Given the description of an element on the screen output the (x, y) to click on. 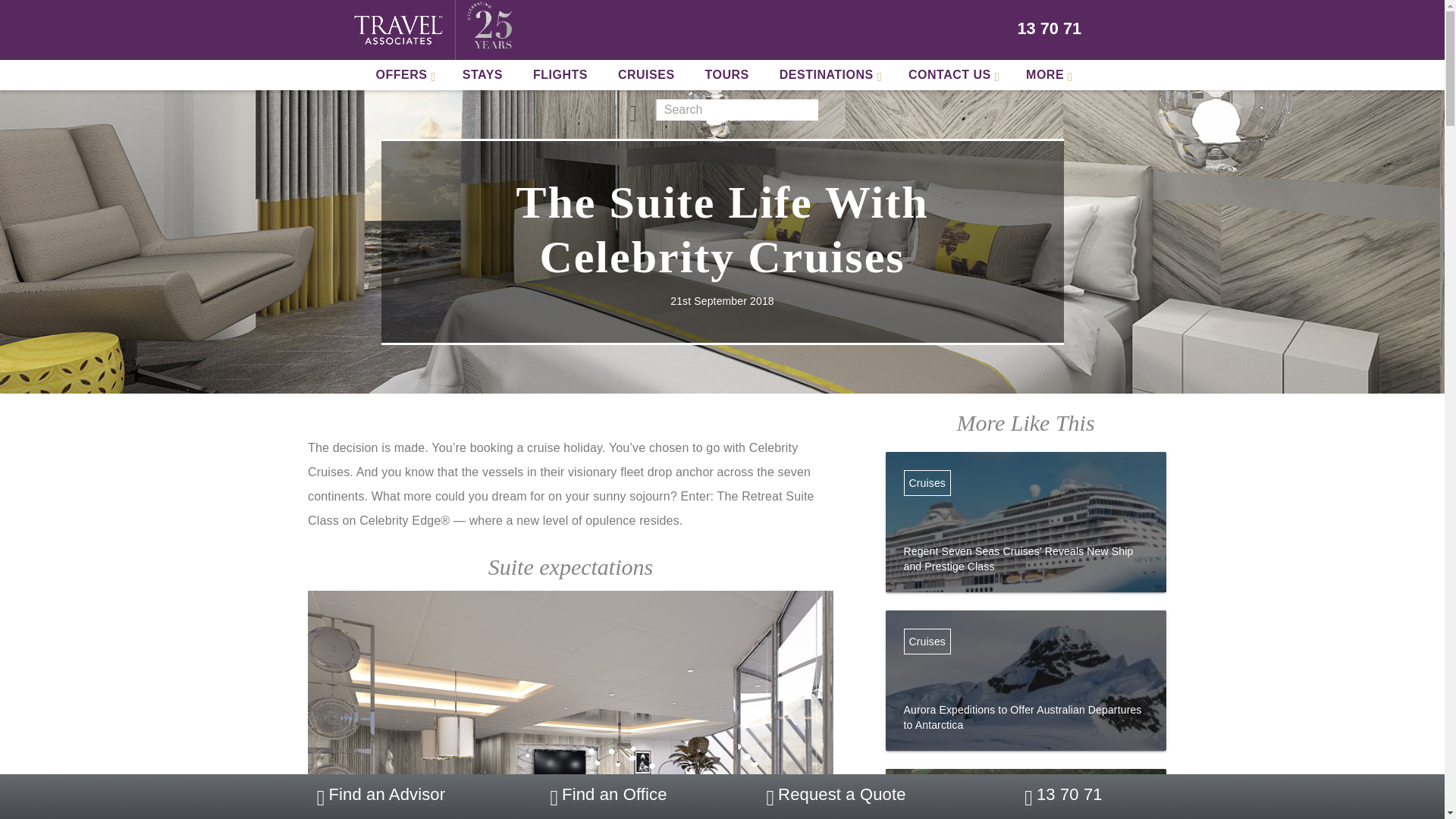
13 70 71 (1050, 28)
STAYS (482, 74)
MORE (1046, 74)
FLIGHTS (560, 74)
CONTACT US (951, 74)
DESTINATIONS (828, 74)
CRUISES (646, 74)
OFFERS (403, 74)
TOURS (727, 74)
